Given the description of an element on the screen output the (x, y) to click on. 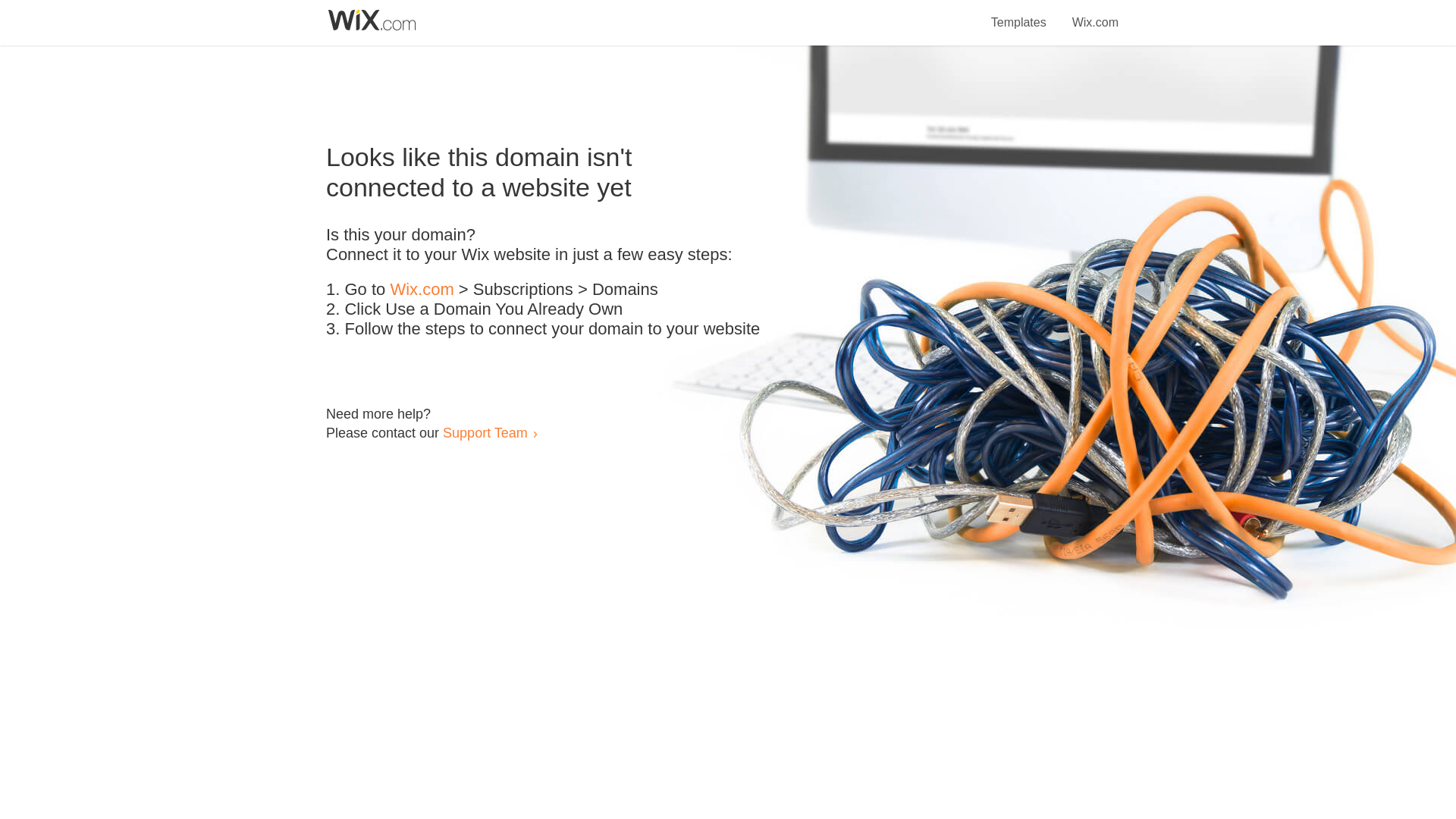
Wix.com (421, 289)
Support Team (484, 432)
Templates (1018, 14)
Wix.com (1095, 14)
